Given the description of an element on the screen output the (x, y) to click on. 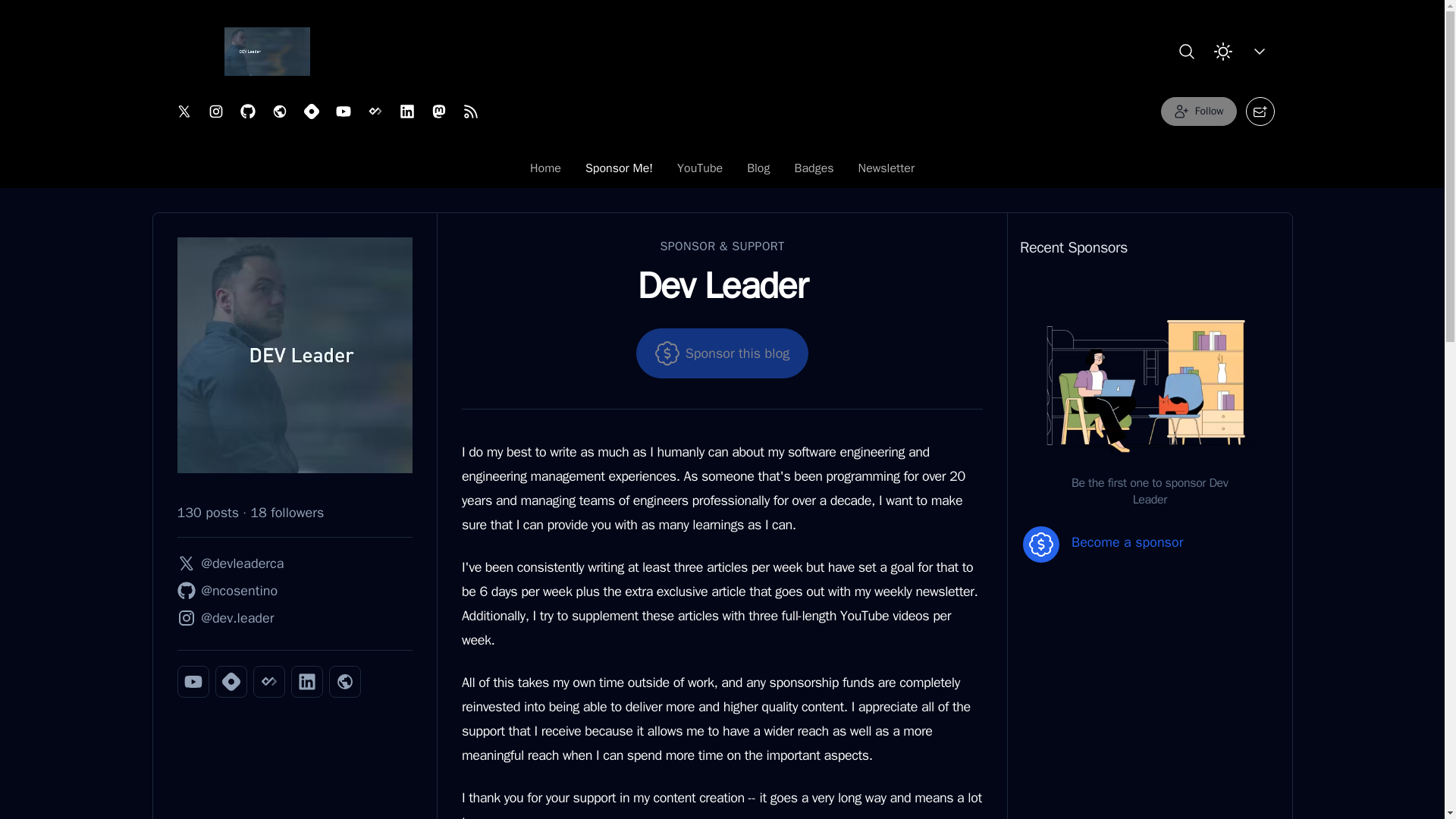
YouTube (700, 172)
Sponsor Me! (619, 172)
Follow (1198, 111)
Blog (758, 172)
Newsletter (885, 172)
Badges (813, 172)
Home (722, 168)
